Given the description of an element on the screen output the (x, y) to click on. 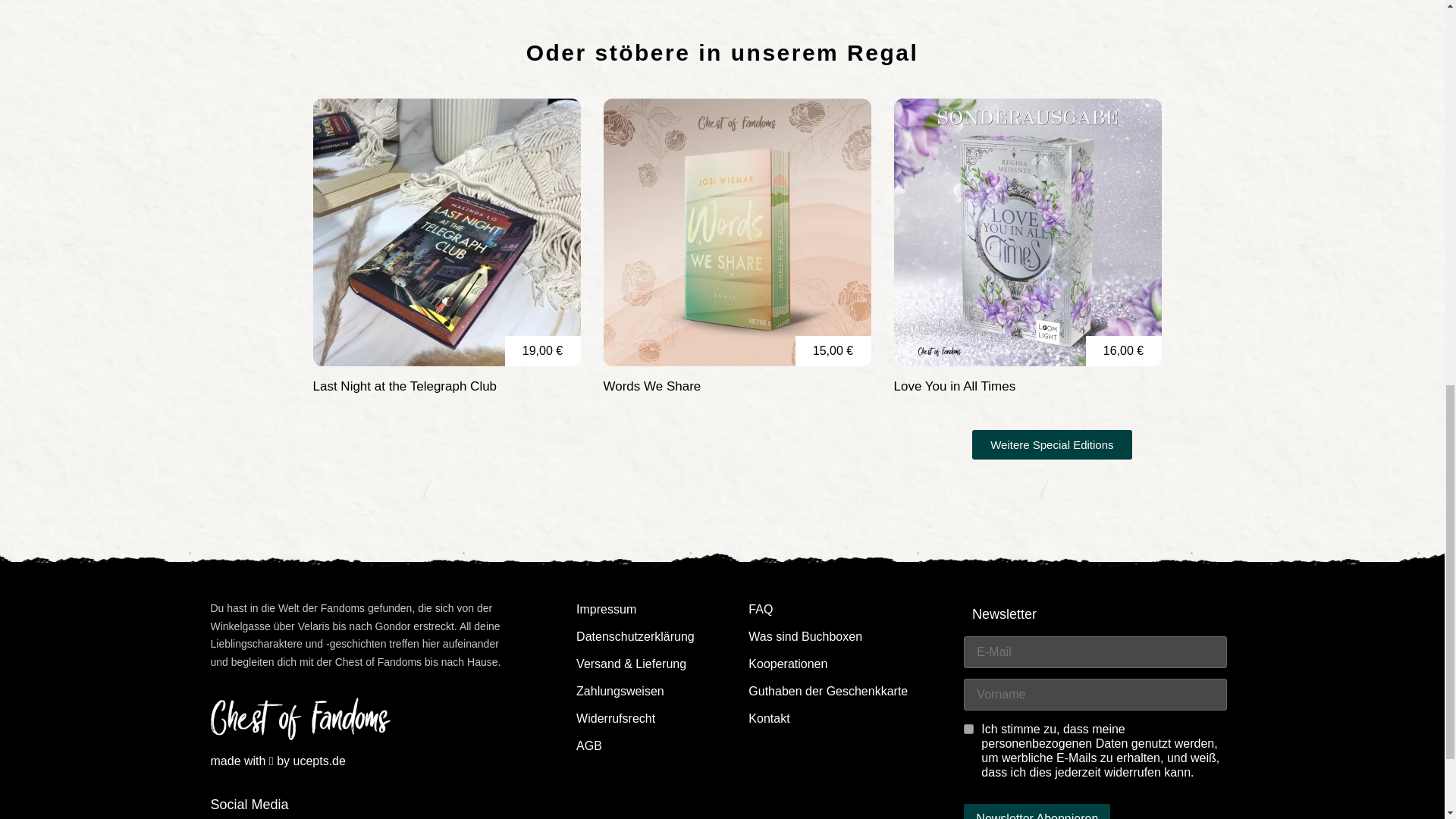
LastNightAtTheTelegraphClub (446, 232)
Love you in all times Werbegrafik (1026, 232)
on (968, 728)
Words We Share (737, 232)
Newsletter Abonnieren (1036, 811)
